Given the description of an element on the screen output the (x, y) to click on. 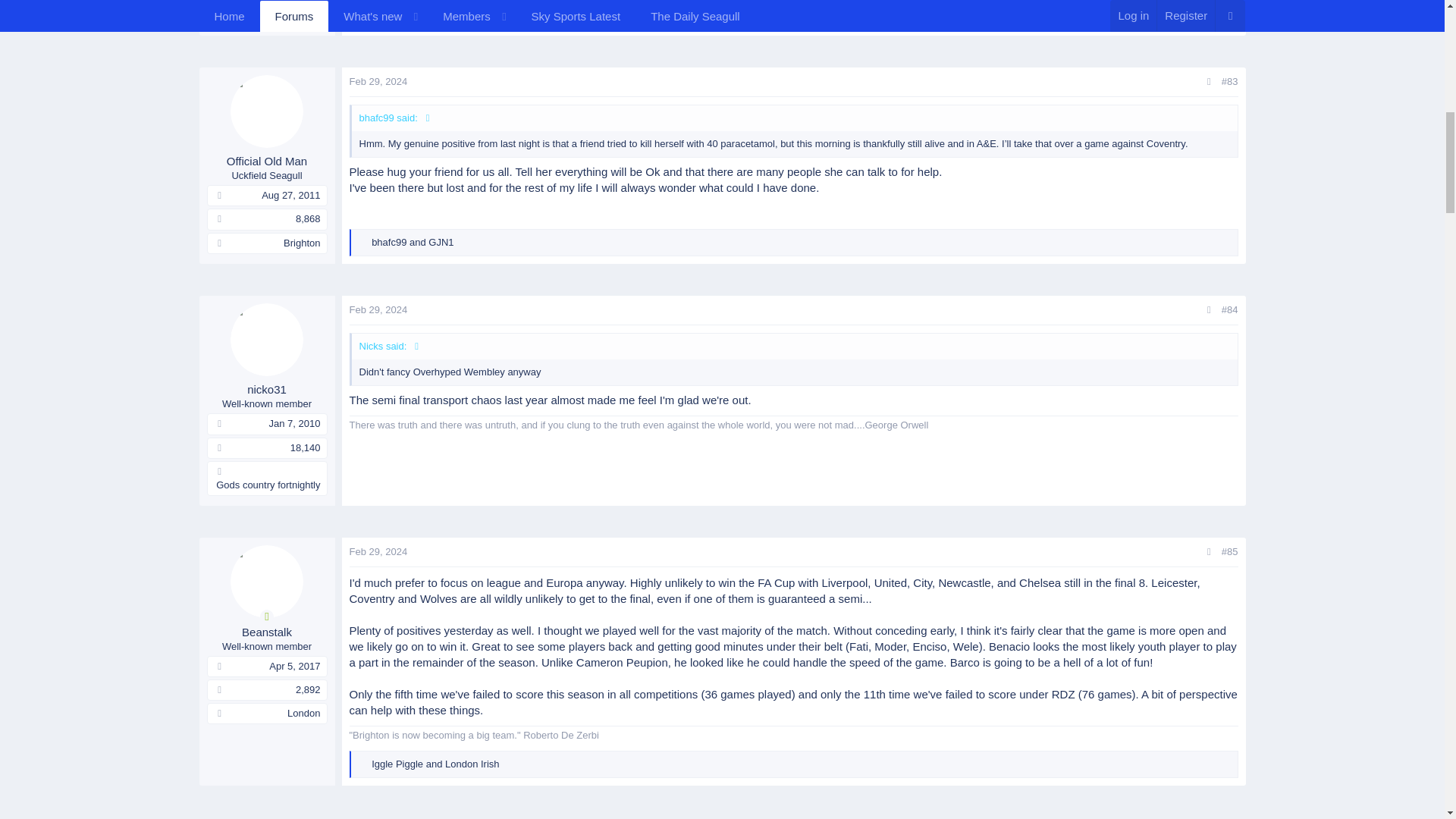
Messages (219, 5)
Joined (219, 194)
Messages (219, 218)
